Given the description of an element on the screen output the (x, y) to click on. 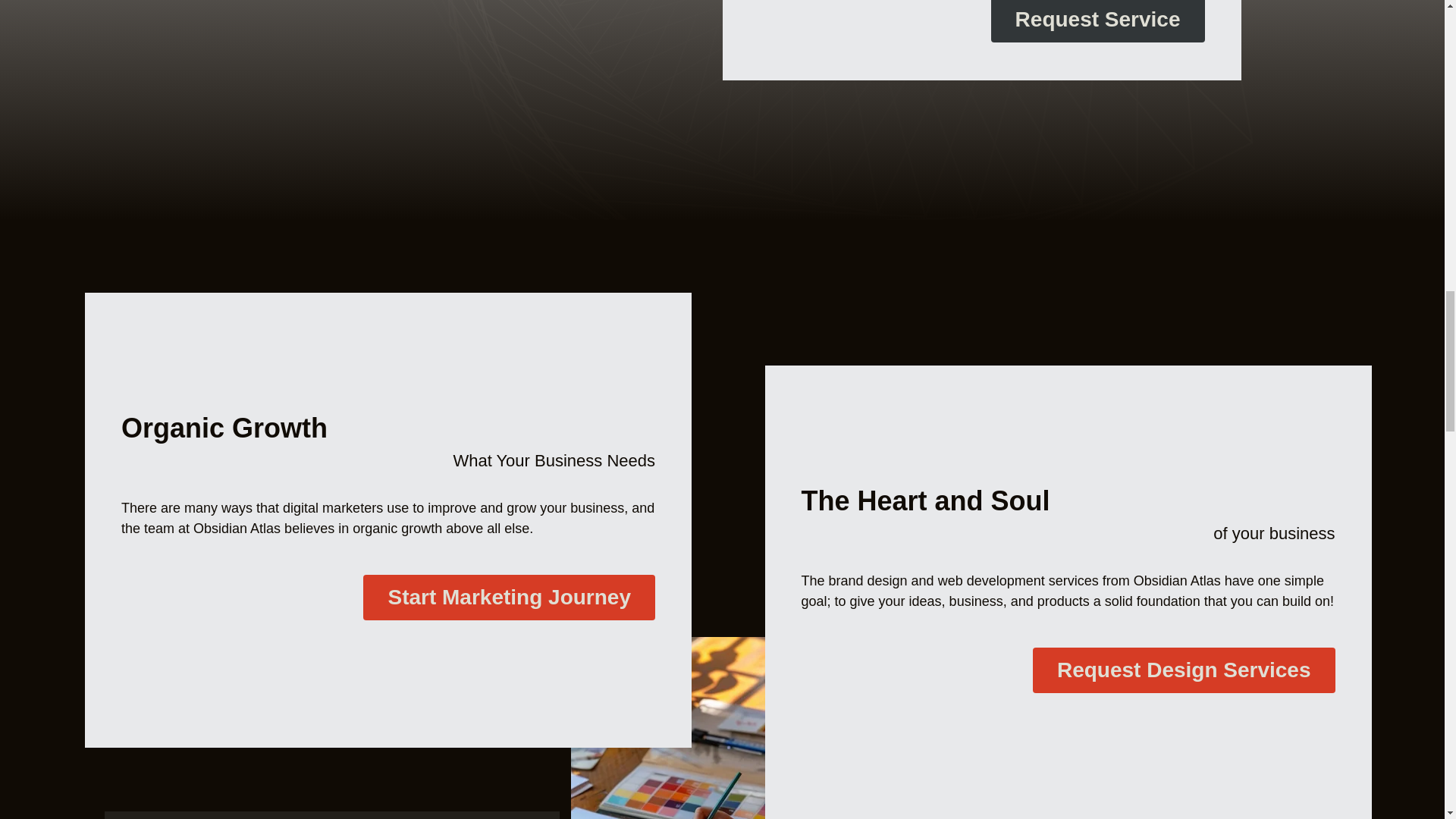
Start Marketing Journey (508, 596)
Request Design Services (1183, 669)
Request Service (1098, 21)
